Given the description of an element on the screen output the (x, y) to click on. 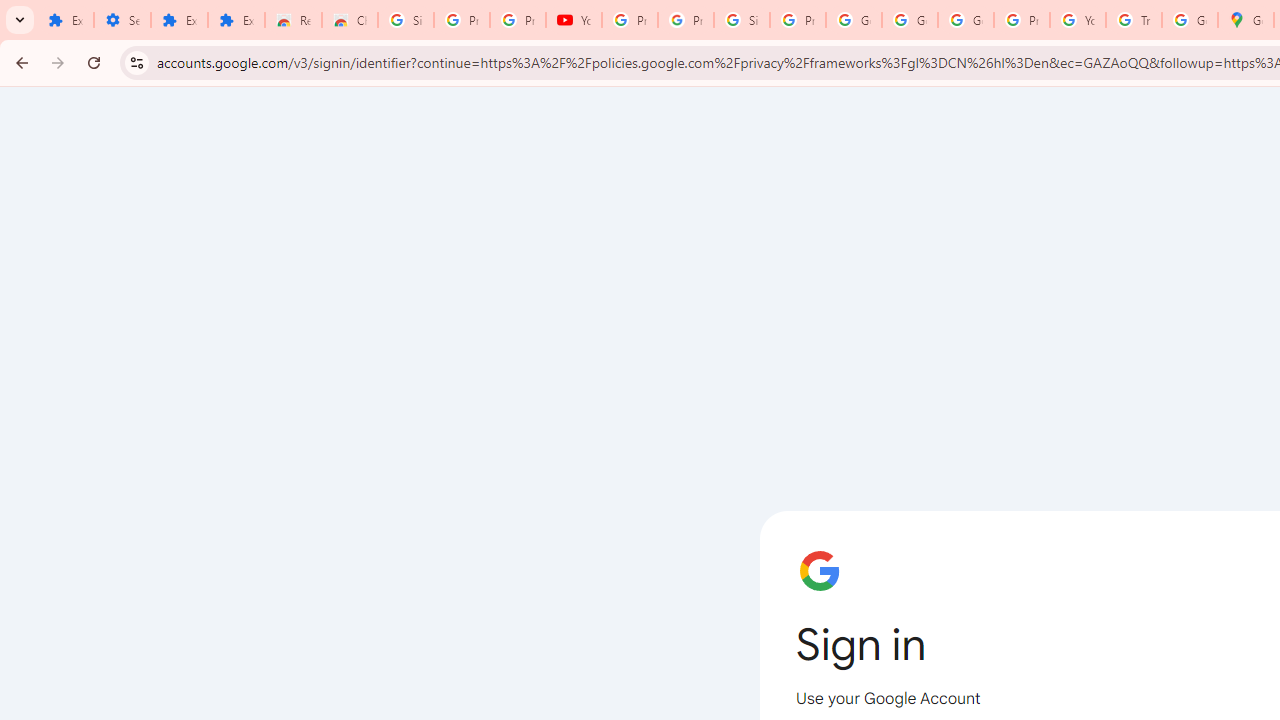
Sign in - Google Accounts (742, 20)
Extensions (179, 20)
Extensions (235, 20)
Google Account (853, 20)
YouTube (573, 20)
